Given the description of an element on the screen output the (x, y) to click on. 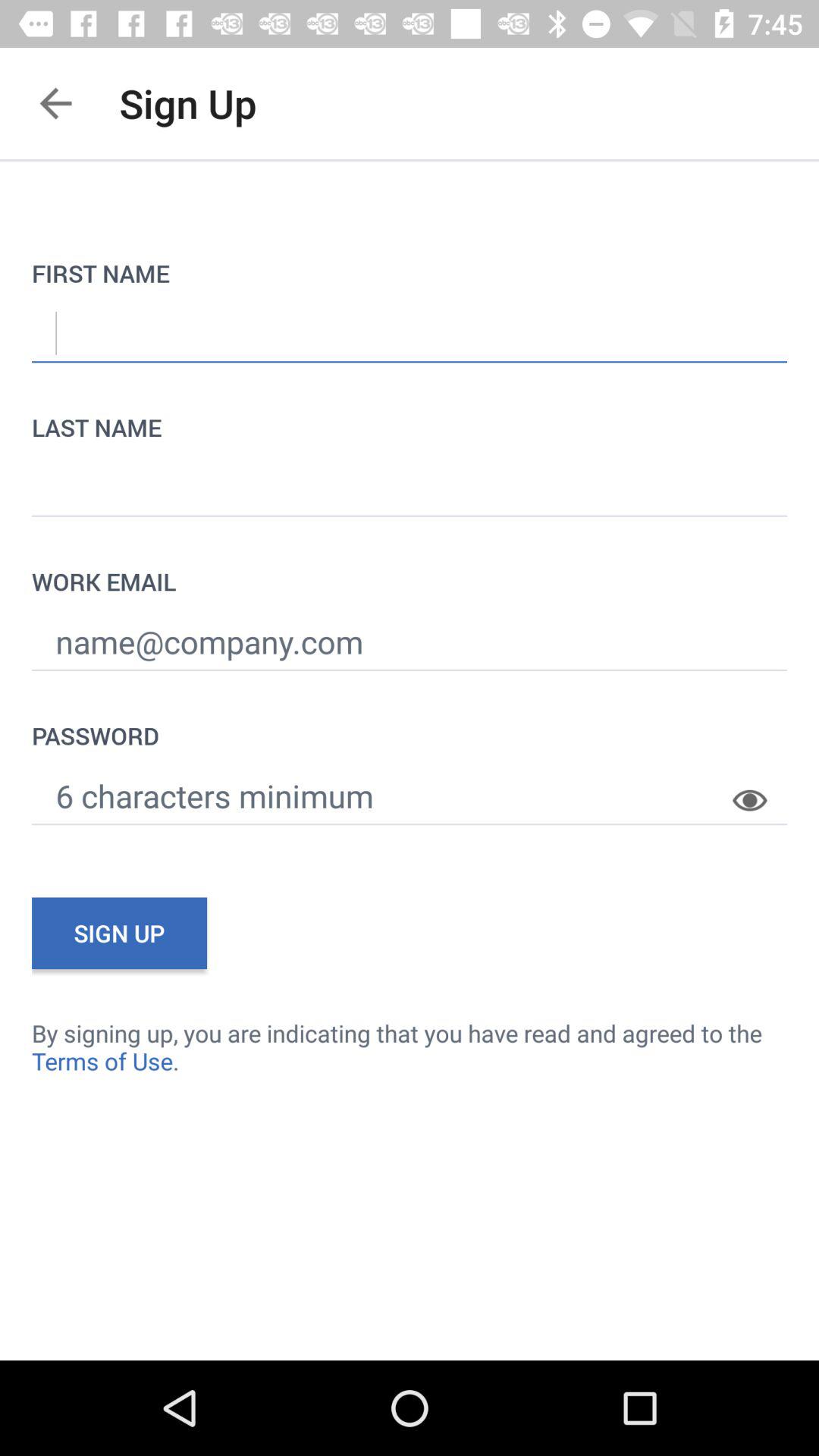
click the item above by signing up item (759, 788)
